Given the description of an element on the screen output the (x, y) to click on. 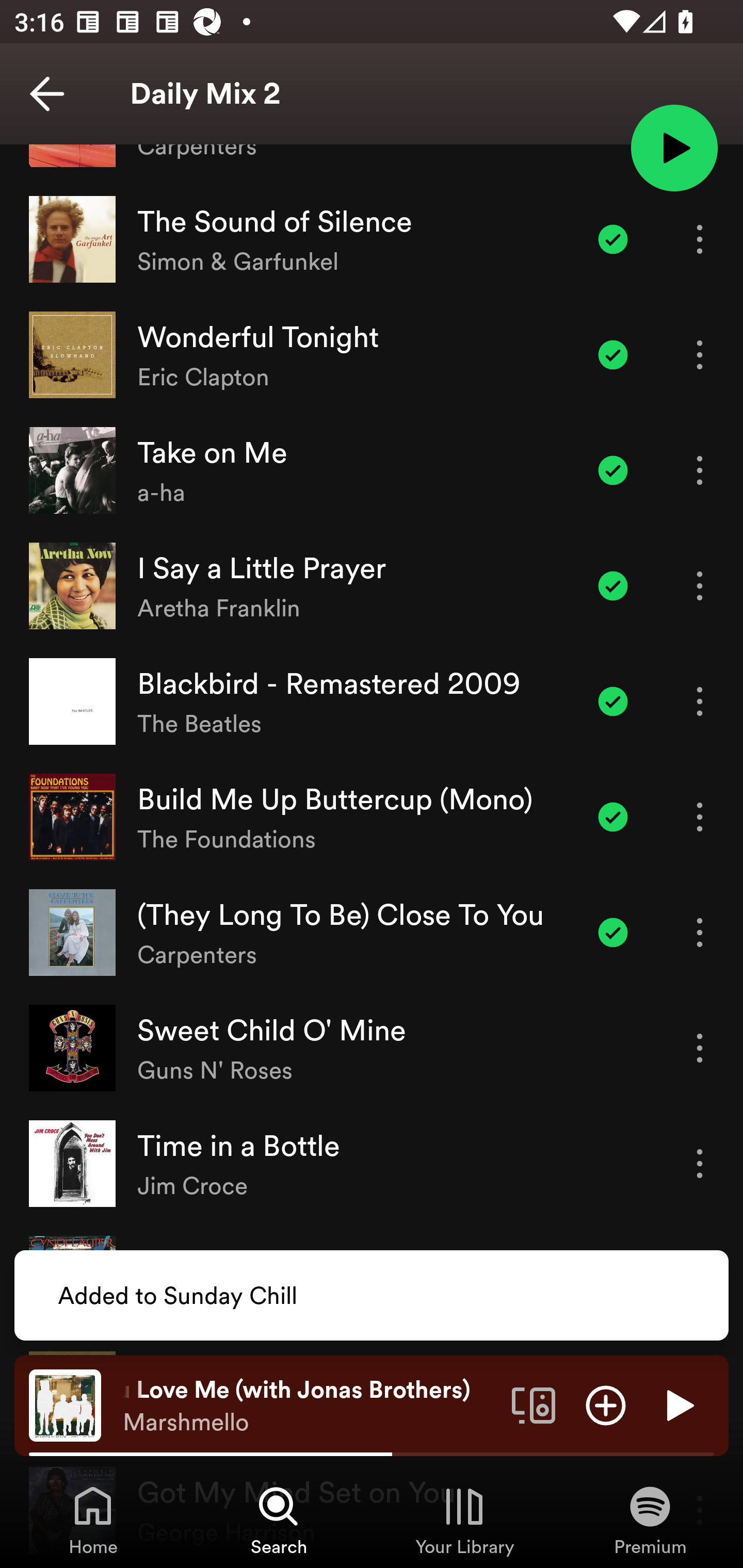
Back (46, 93)
Play playlist (674, 147)
Item added (612, 239)
More options for song The Sound of Silence (699, 239)
Item added (612, 355)
More options for song Wonderful Tonight (699, 355)
Item added (612, 470)
More options for song Take on Me (699, 470)
Item added (612, 585)
More options for song I Say a Little Prayer (699, 585)
Item added (612, 701)
More options for song Blackbird - Remastered 2009 (699, 701)
Item added (612, 816)
More options for song Build Me Up Buttercup (Mono) (699, 816)
